Given the description of an element on the screen output the (x, y) to click on. 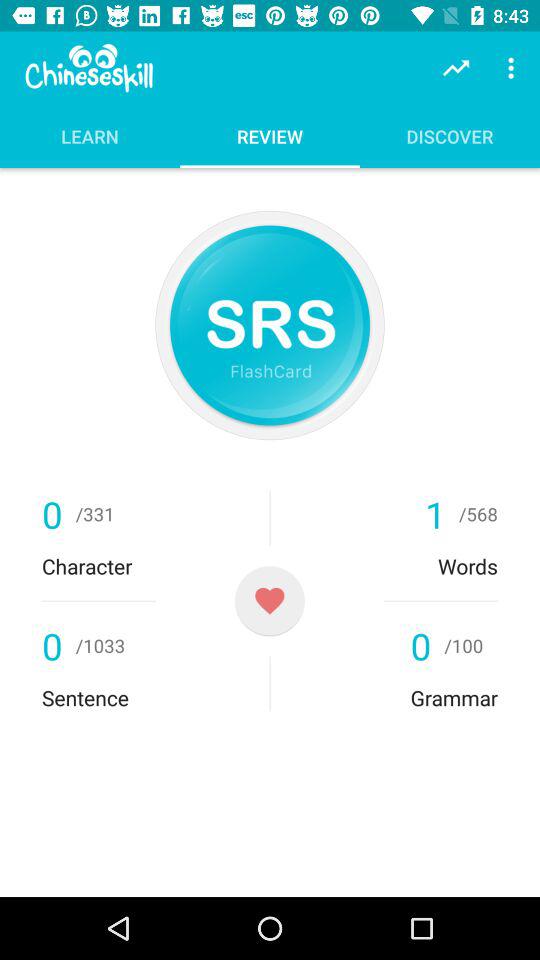
click for flashcard (270, 325)
